Given the description of an element on the screen output the (x, y) to click on. 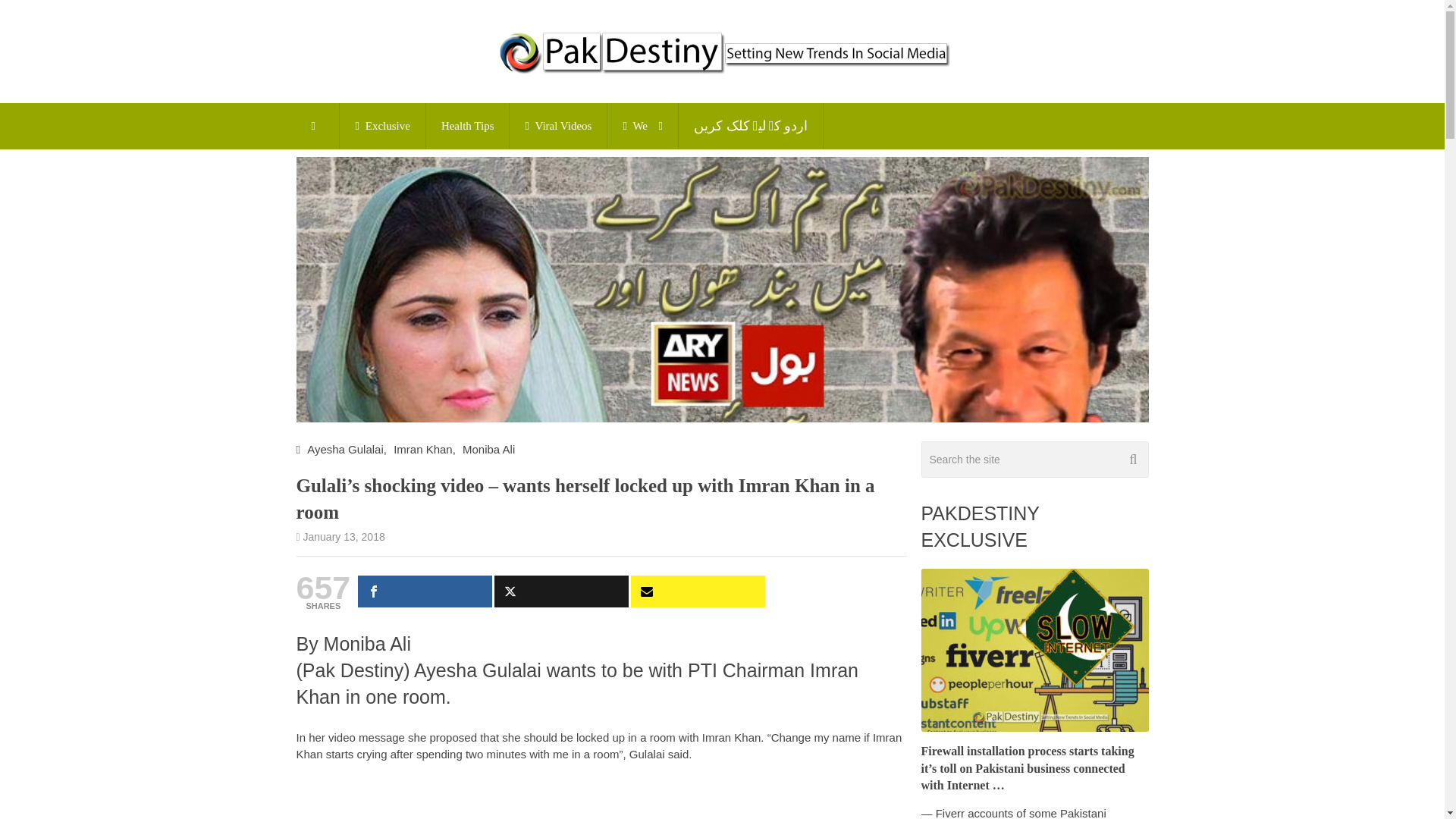
Health Tips (467, 125)
Imran Khan (422, 449)
Facebook (425, 591)
Ayesha Gulalai (345, 449)
Exclusive (382, 125)
We (642, 125)
Moniba Ali (489, 449)
Viral Videos (558, 125)
Twitter (561, 591)
